Given the description of an element on the screen output the (x, y) to click on. 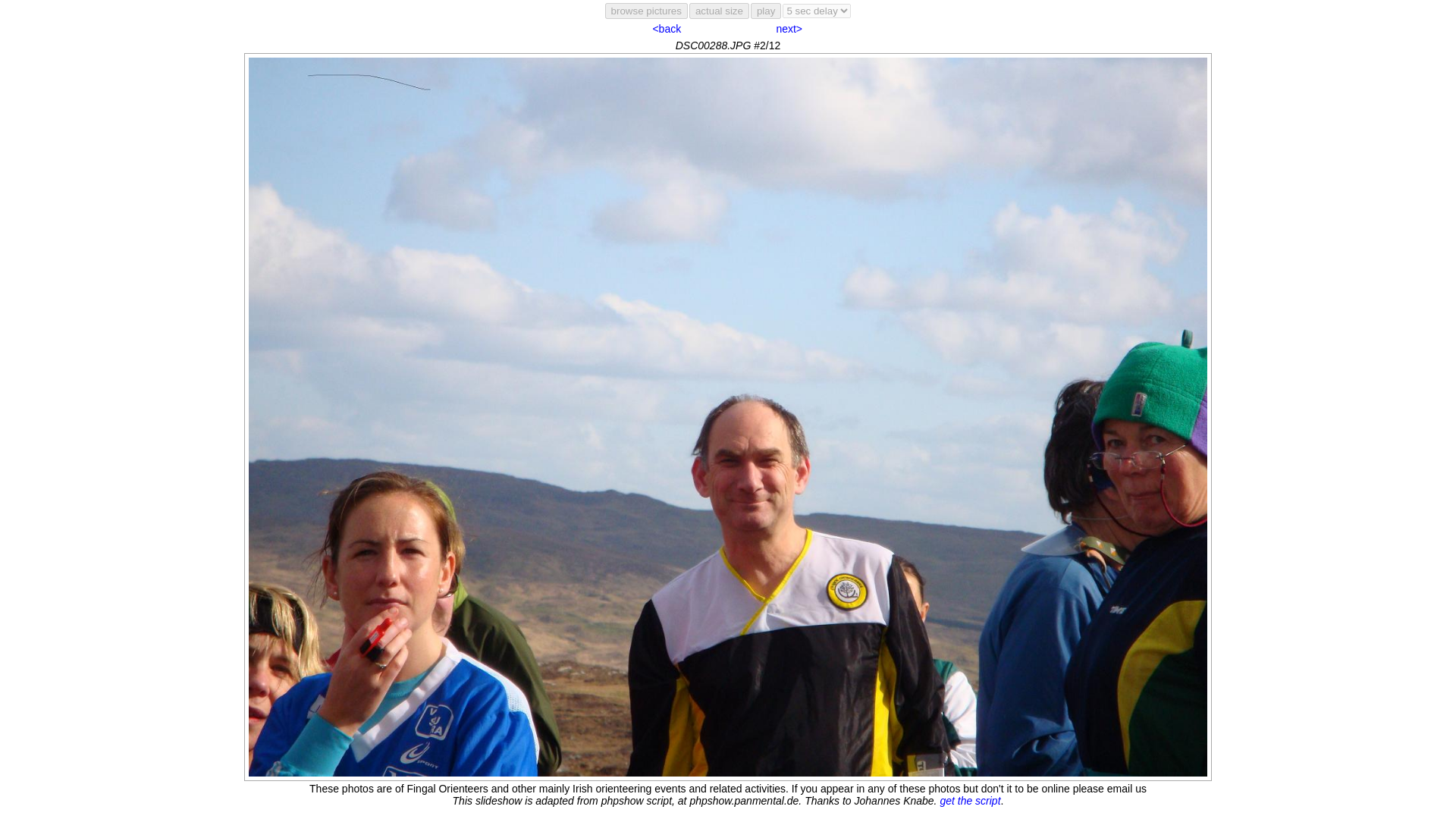
browse pictures (646, 10)
play (765, 10)
actual size (718, 10)
get the script (969, 800)
